Given the description of an element on the screen output the (x, y) to click on. 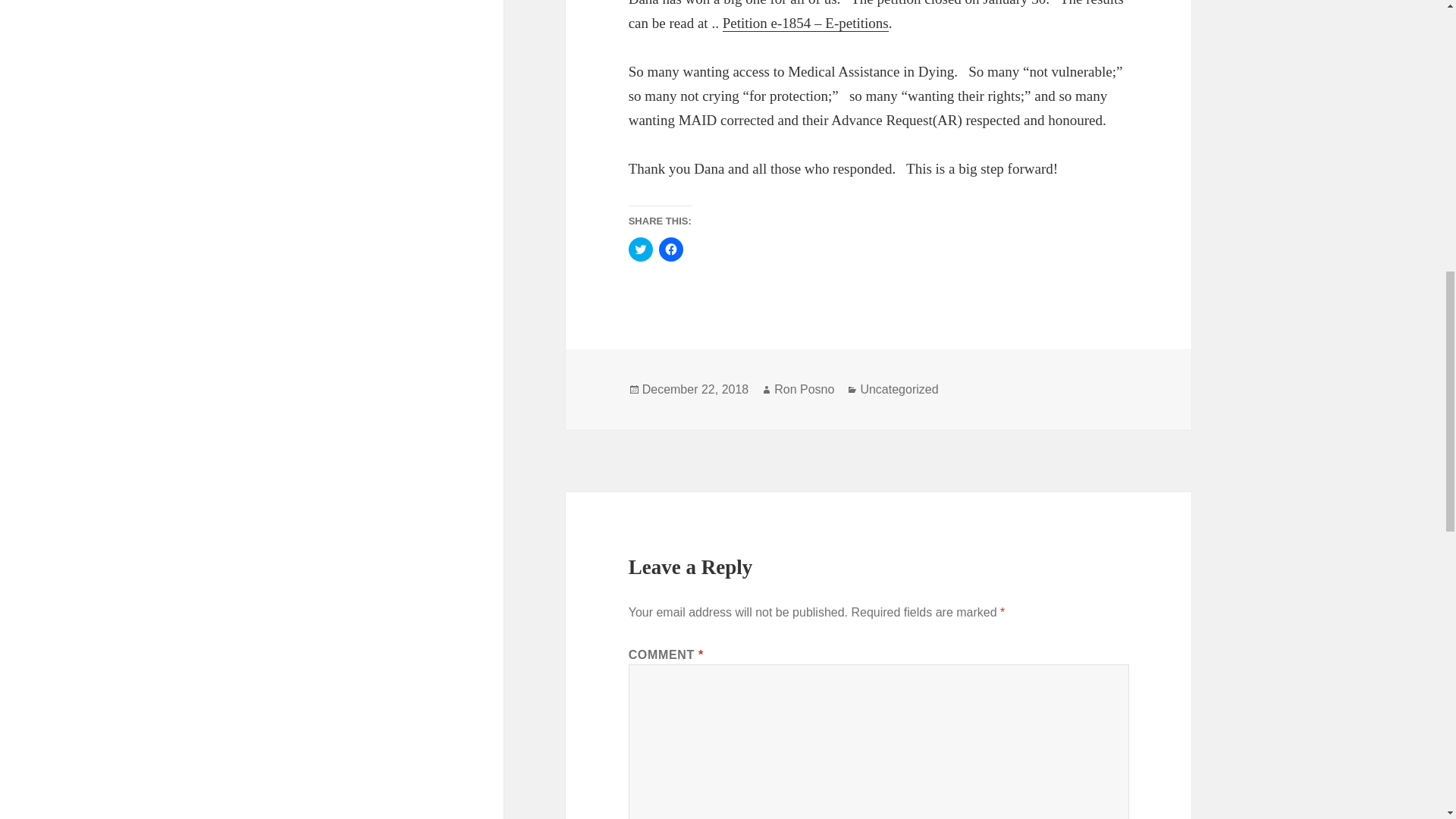
December 22, 2018 (695, 389)
Click to share on Facebook (670, 249)
Ron Posno (804, 389)
Uncategorized (898, 389)
Click to share on Twitter (640, 249)
